Given the description of an element on the screen output the (x, y) to click on. 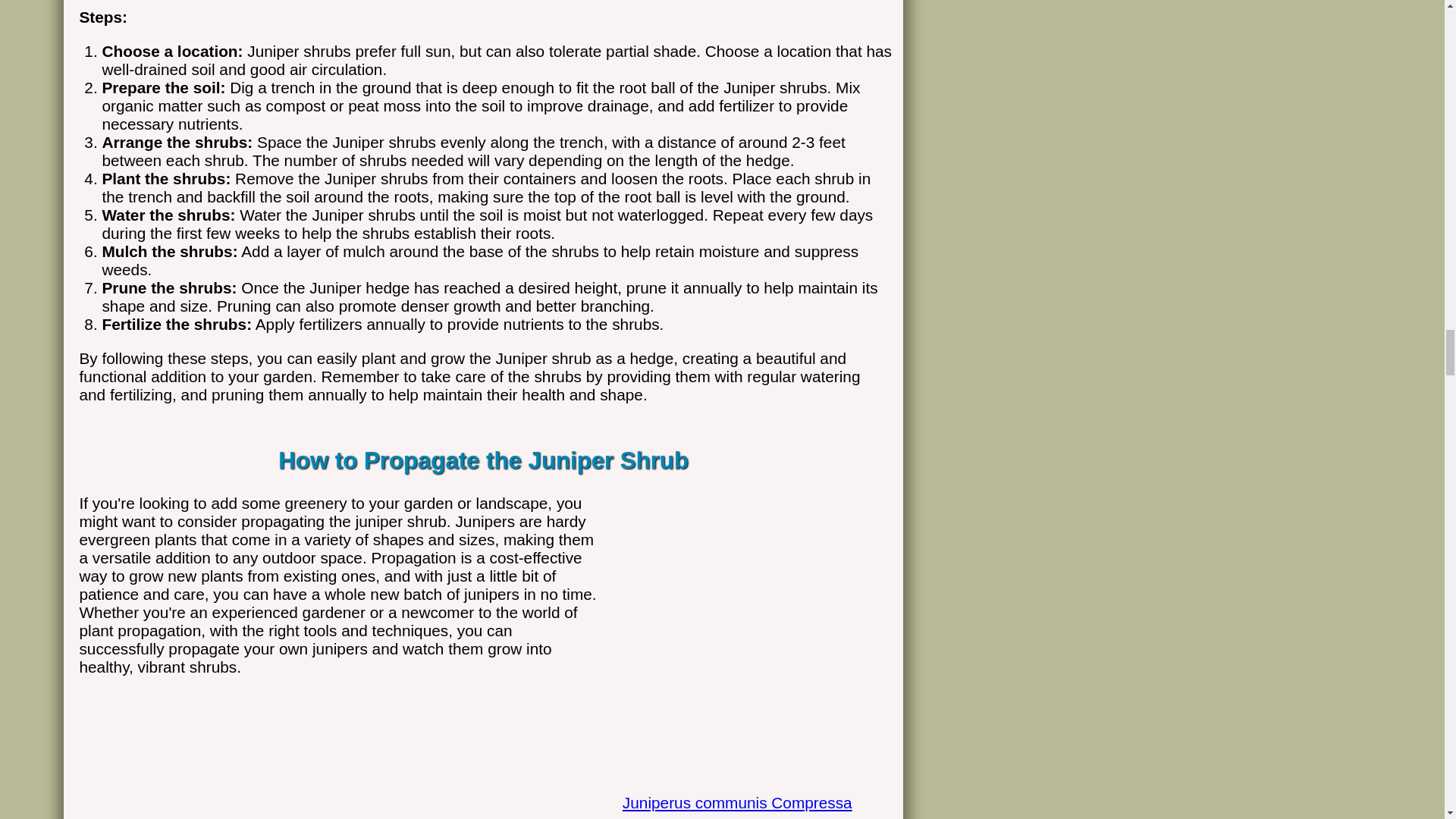
Juniperus communis Compressa (747, 786)
